Given the description of an element on the screen output the (x, y) to click on. 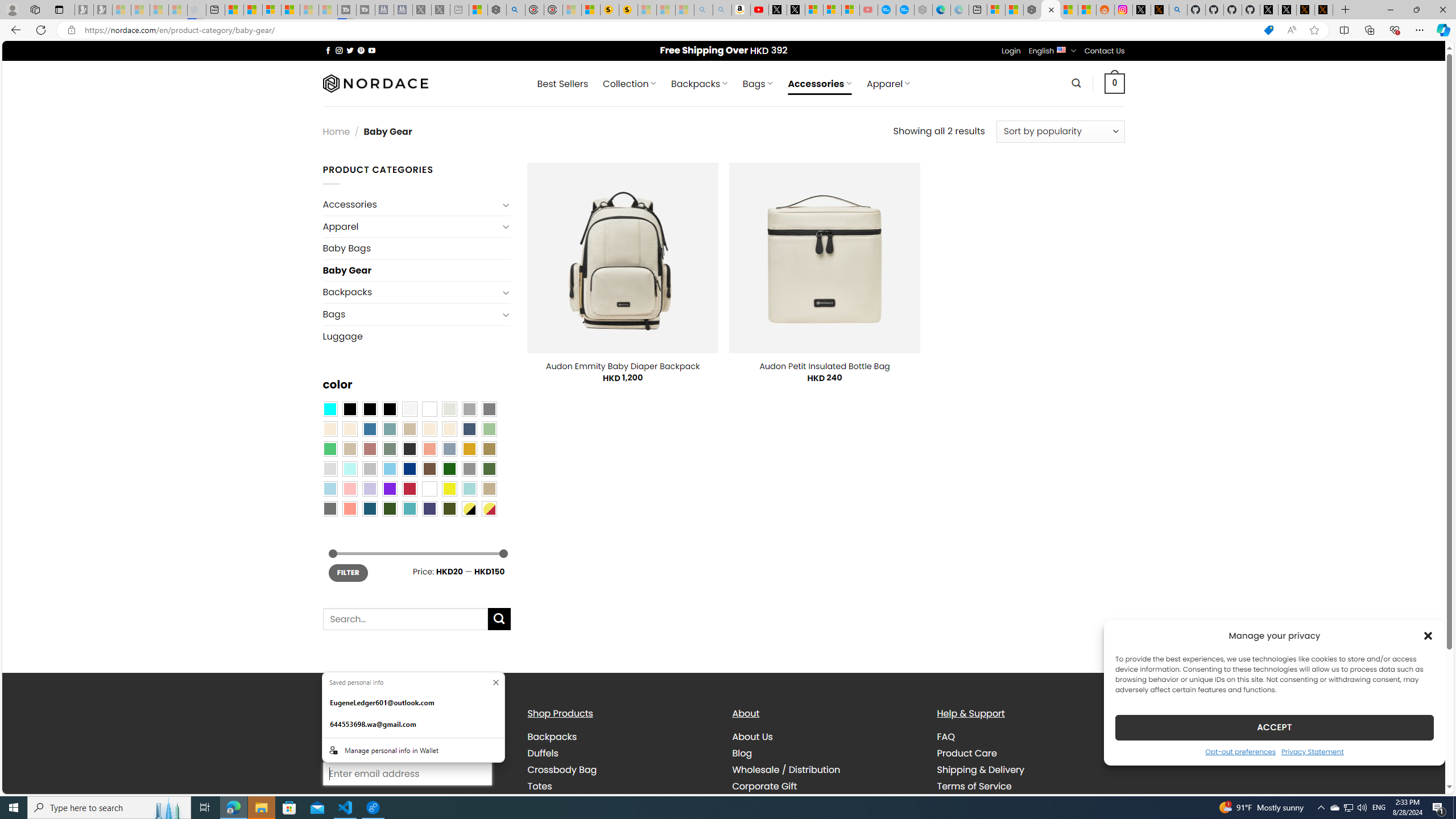
Dark Green (449, 468)
Blog (826, 753)
Crossbody Bag (561, 770)
Baby Bags (416, 248)
Blog (742, 753)
Aqua Blue (329, 408)
Yellow (449, 488)
  Best Sellers (562, 83)
